Given the description of an element on the screen output the (x, y) to click on. 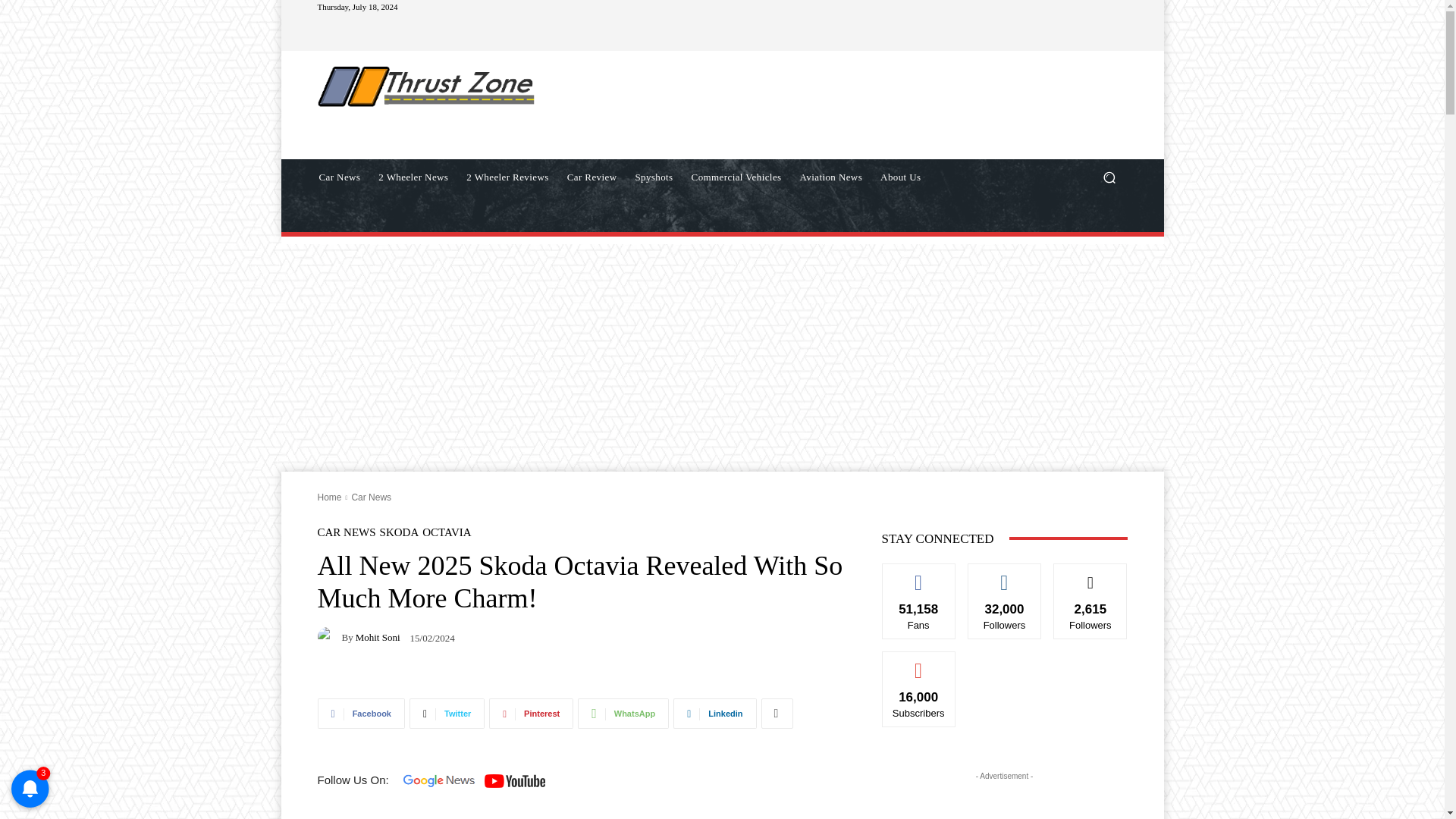
Advertisement (846, 104)
About Us (900, 176)
Home (328, 497)
Aviation News (831, 176)
Mohit Soni (328, 637)
WhatsApp (623, 713)
Car Review (591, 176)
Linkedin (713, 713)
CAR NEWS (346, 532)
2 Wheeler News (413, 176)
SKODA (399, 532)
2 Wheeler Reviews (507, 176)
Pinterest (531, 713)
OCTAVIA (446, 532)
